Given the description of an element on the screen output the (x, y) to click on. 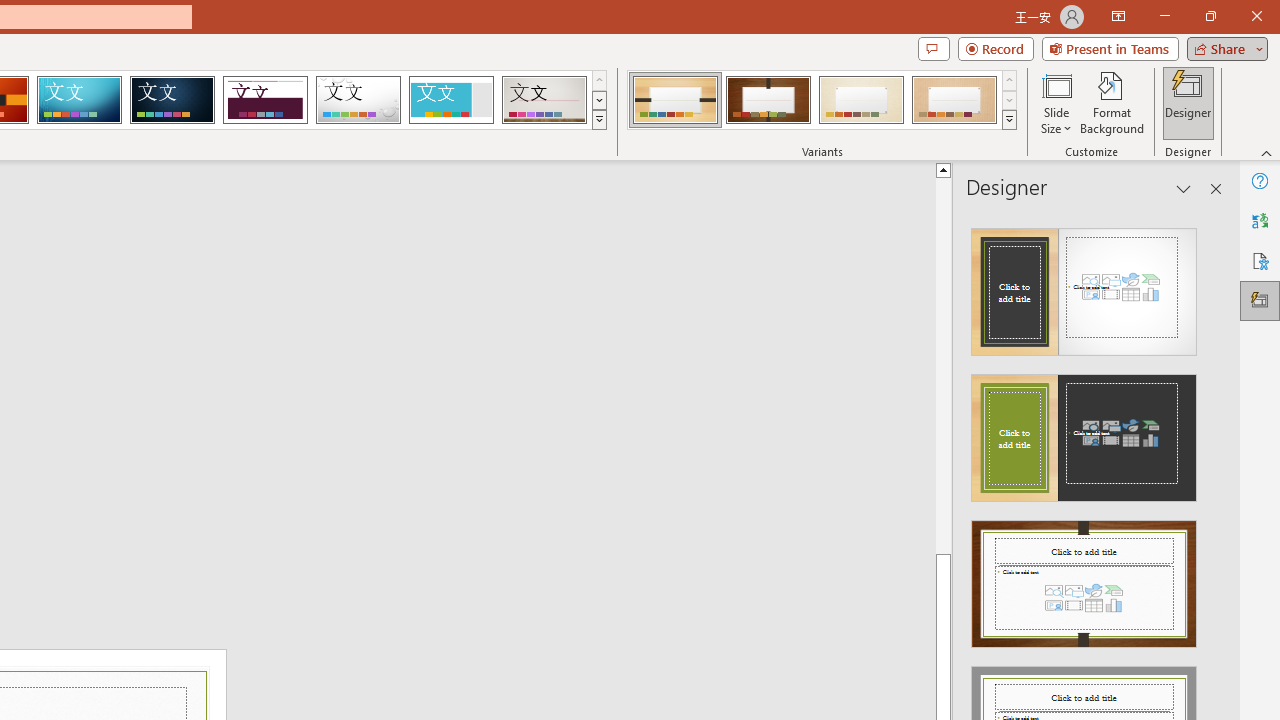
Damask (171, 100)
Format Background (1111, 102)
Page up (943, 364)
Gallery (544, 100)
Organic Variant 1 (674, 100)
Design Idea (1083, 577)
